Given the description of an element on the screen output the (x, y) to click on. 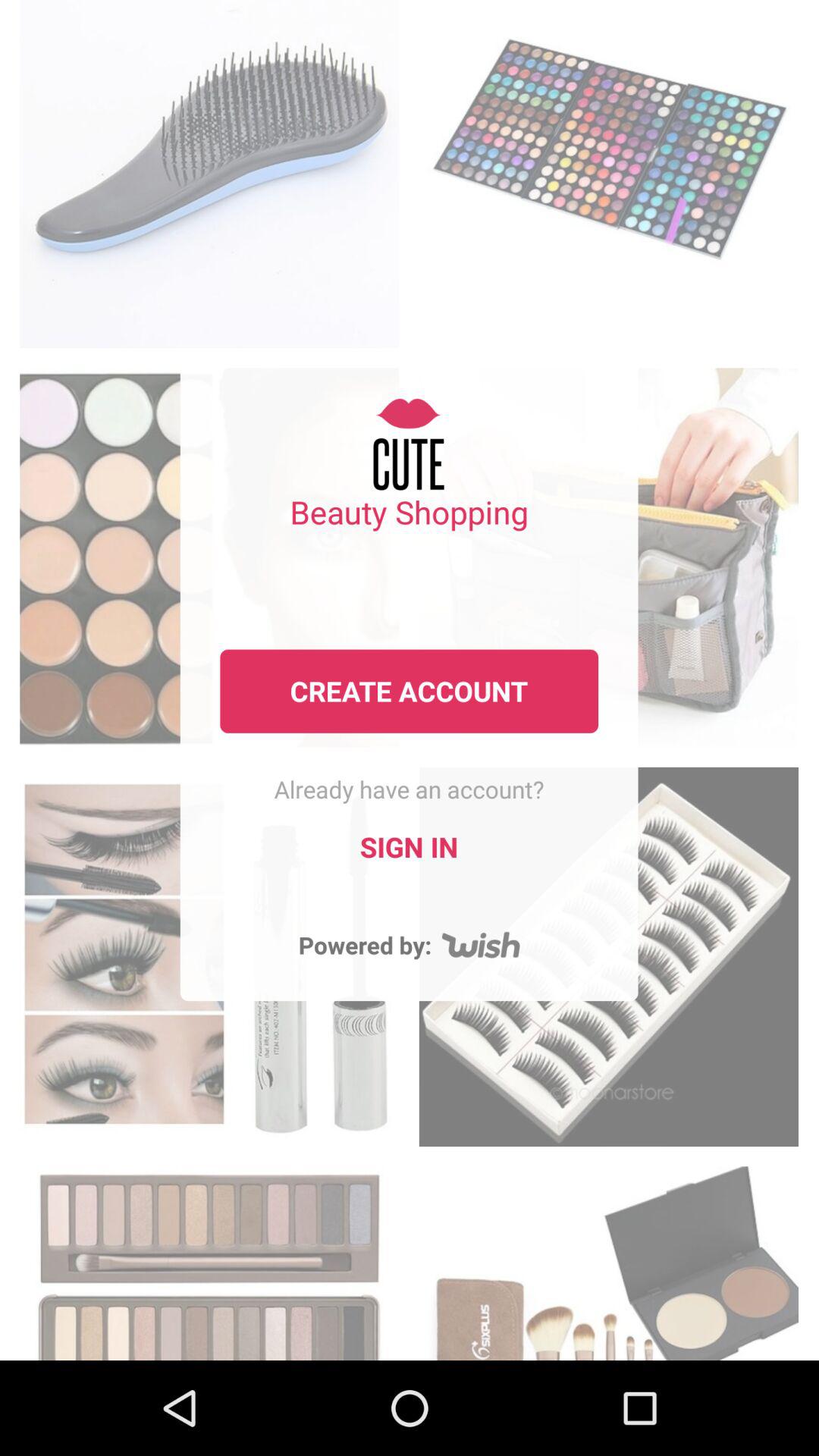
go to make box (608, 1258)
